Given the description of an element on the screen output the (x, y) to click on. 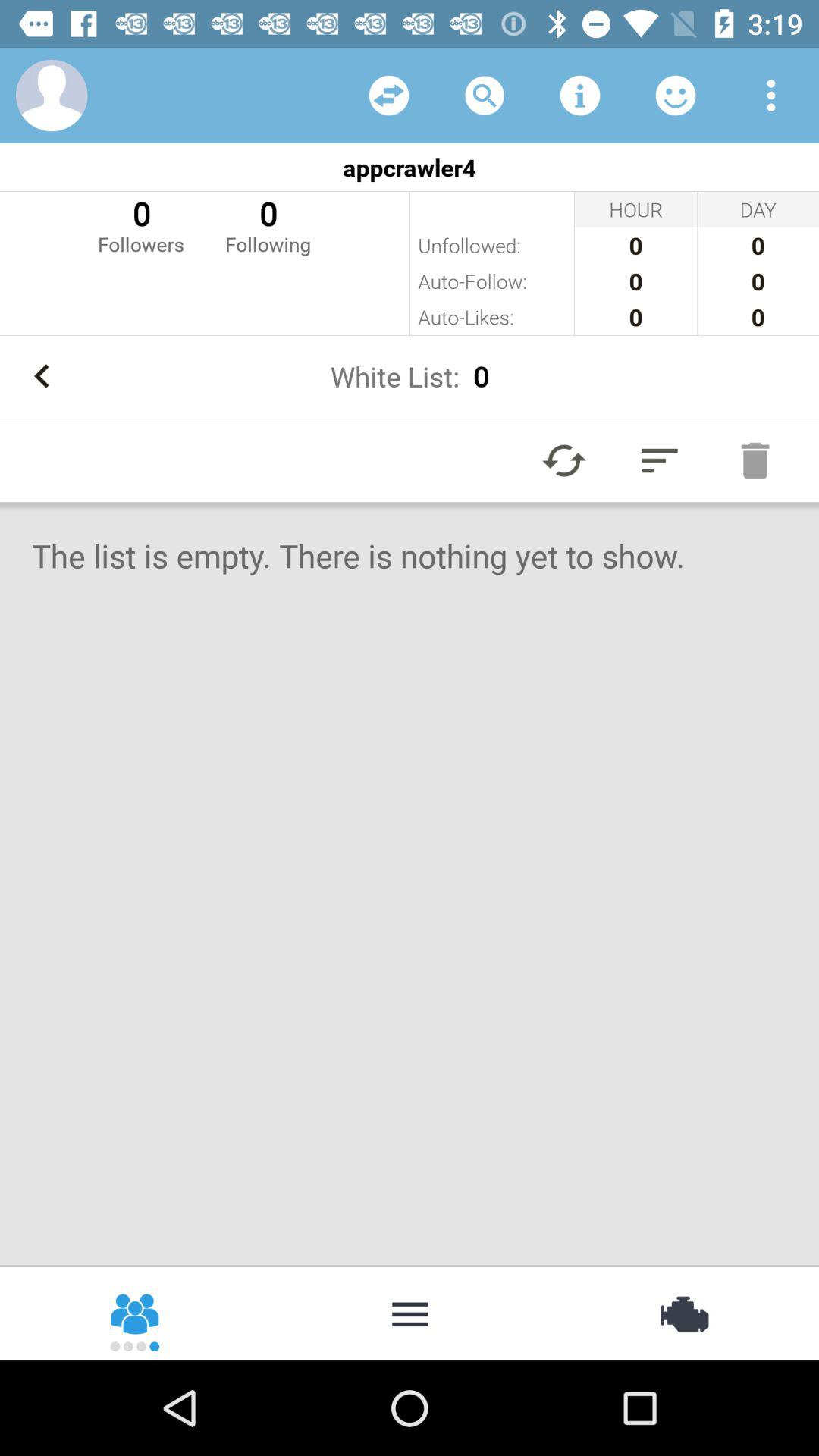
open search bar (484, 95)
